Given the description of an element on the screen output the (x, y) to click on. 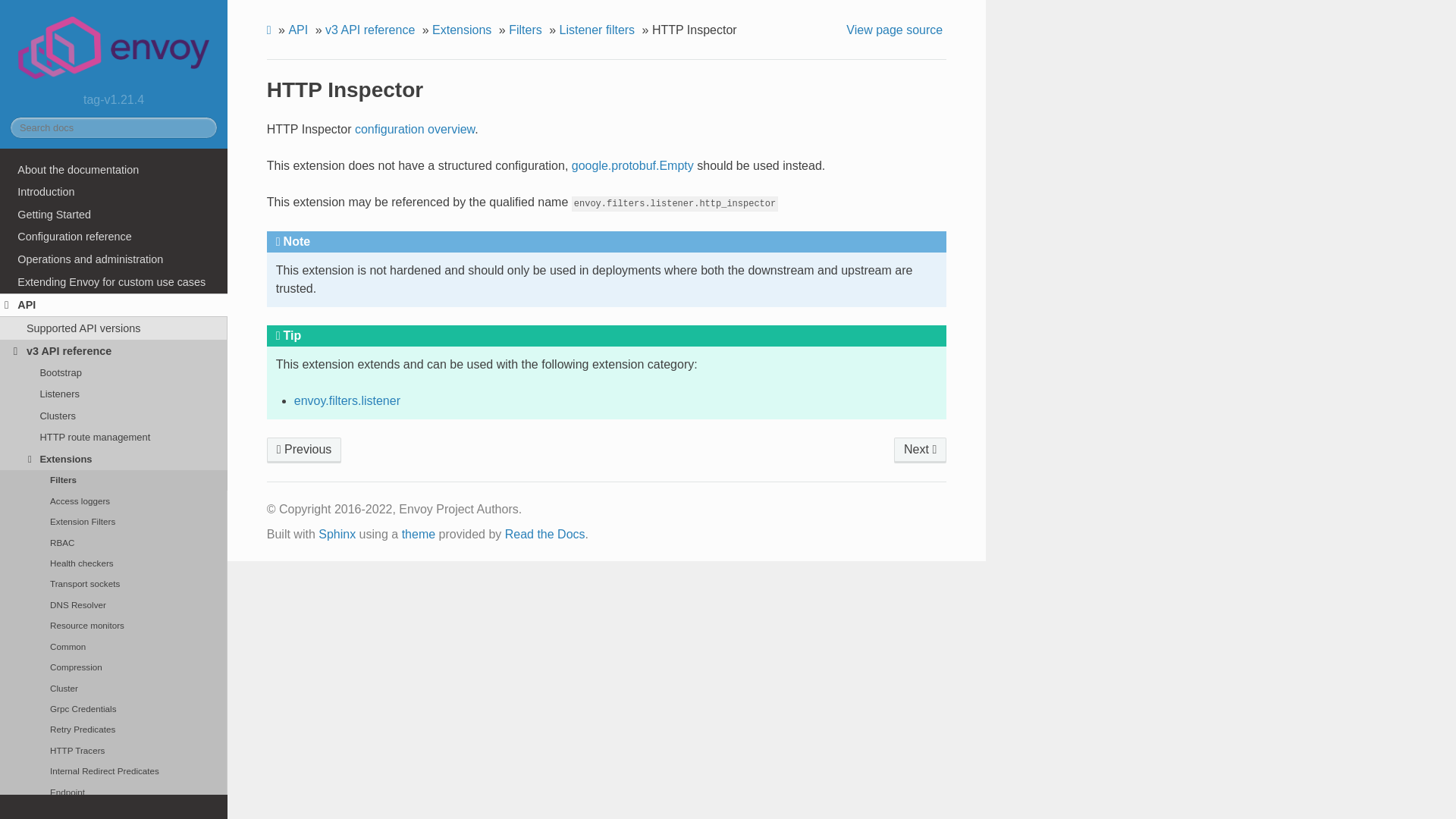
Retry Predicates (113, 729)
Getting Started (113, 214)
Filters (113, 480)
Resource monitors (113, 625)
v3 API reference (113, 350)
Listeners (113, 394)
Original Destination (919, 450)
Supported API versions (113, 327)
Extensions (113, 458)
Listener filters (304, 450)
